Given the description of an element on the screen output the (x, y) to click on. 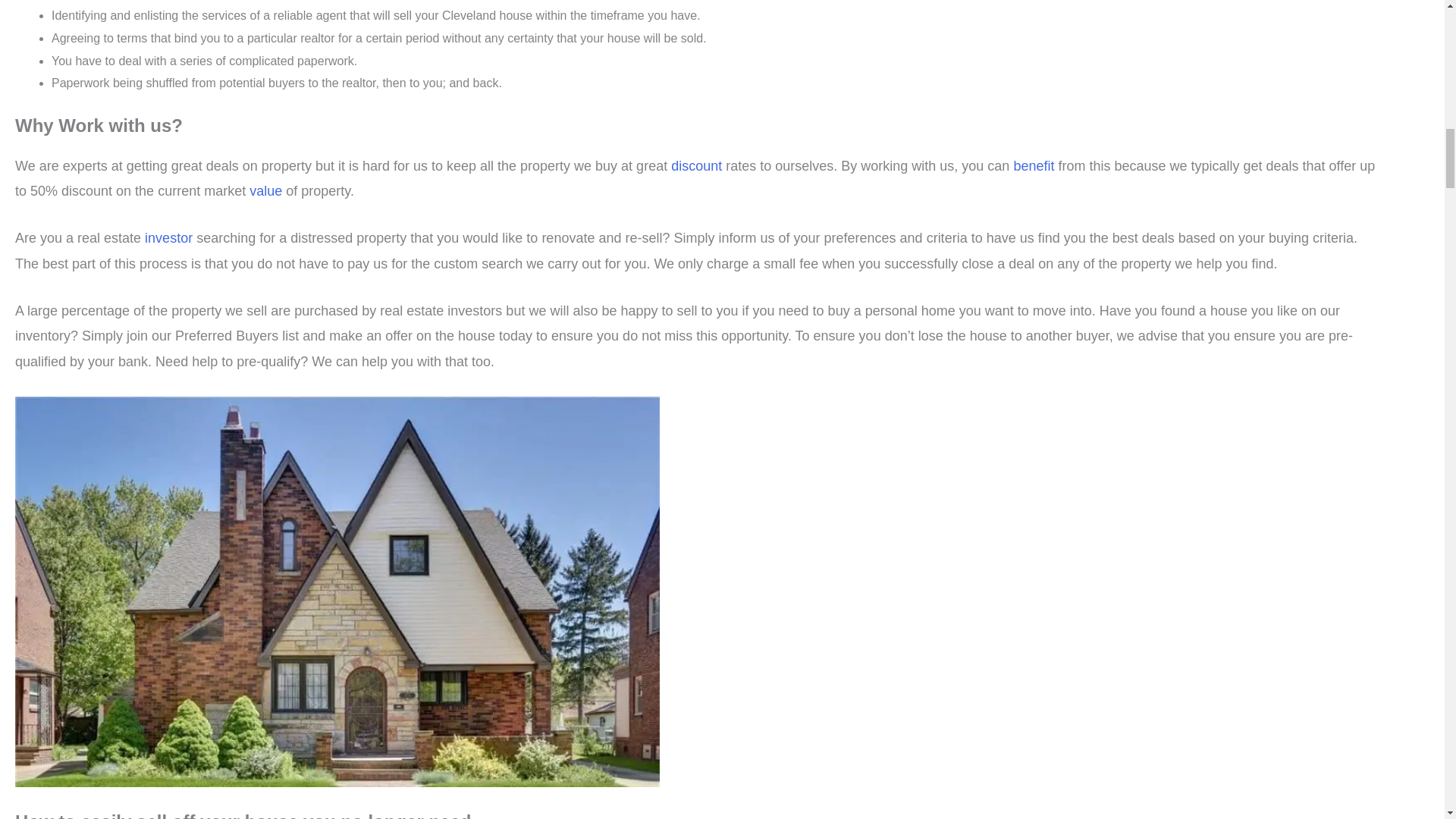
value (266, 191)
discount (698, 165)
investor (170, 237)
benefit (1035, 165)
